Given the description of an element on the screen output the (x, y) to click on. 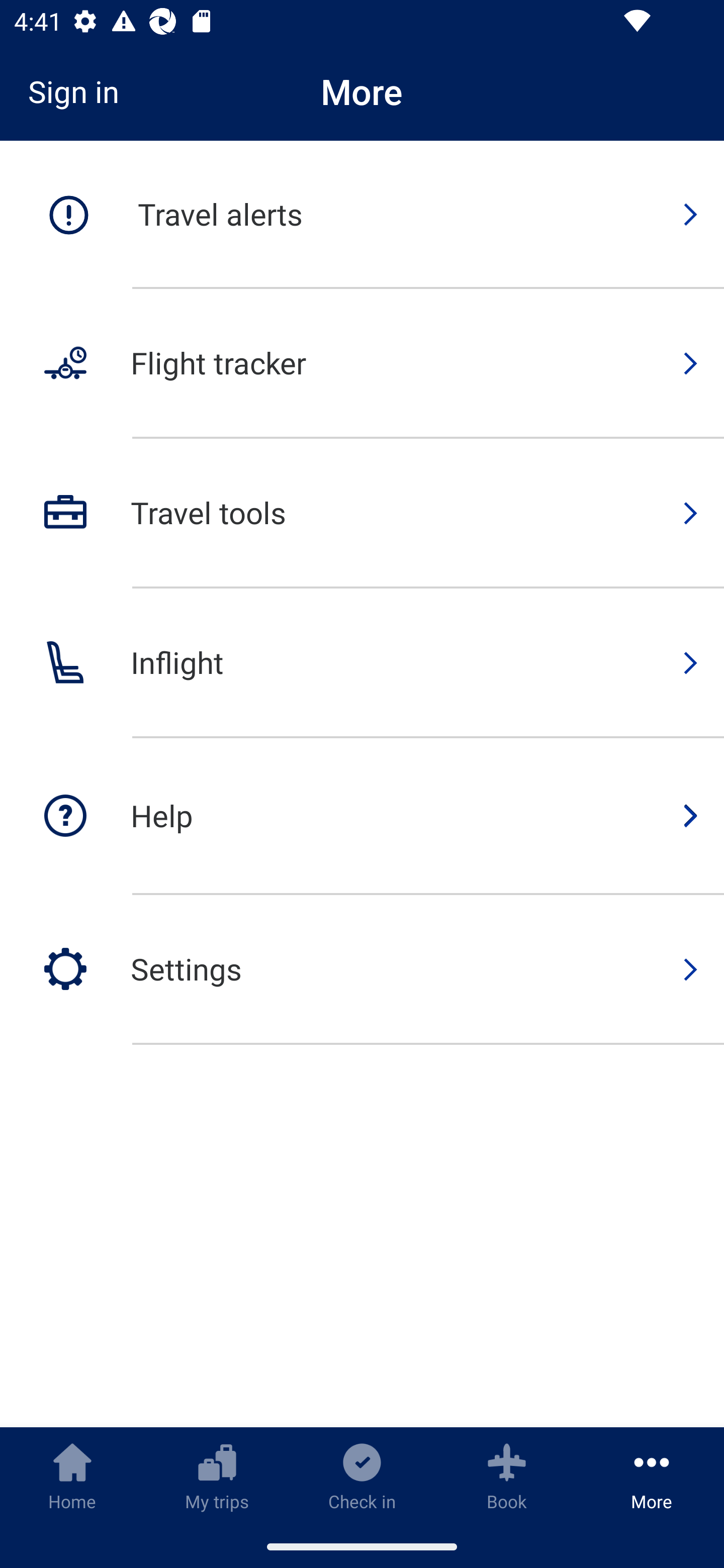
Sign in (80, 91)
Travel alerts (362, 214)
Flight tracker (362, 363)
Travel tools (362, 513)
Inflight (362, 663)
Help (362, 816)
Settings (362, 969)
Home (72, 1475)
My trips (216, 1475)
Check in (361, 1475)
Book (506, 1475)
